Given the description of an element on the screen output the (x, y) to click on. 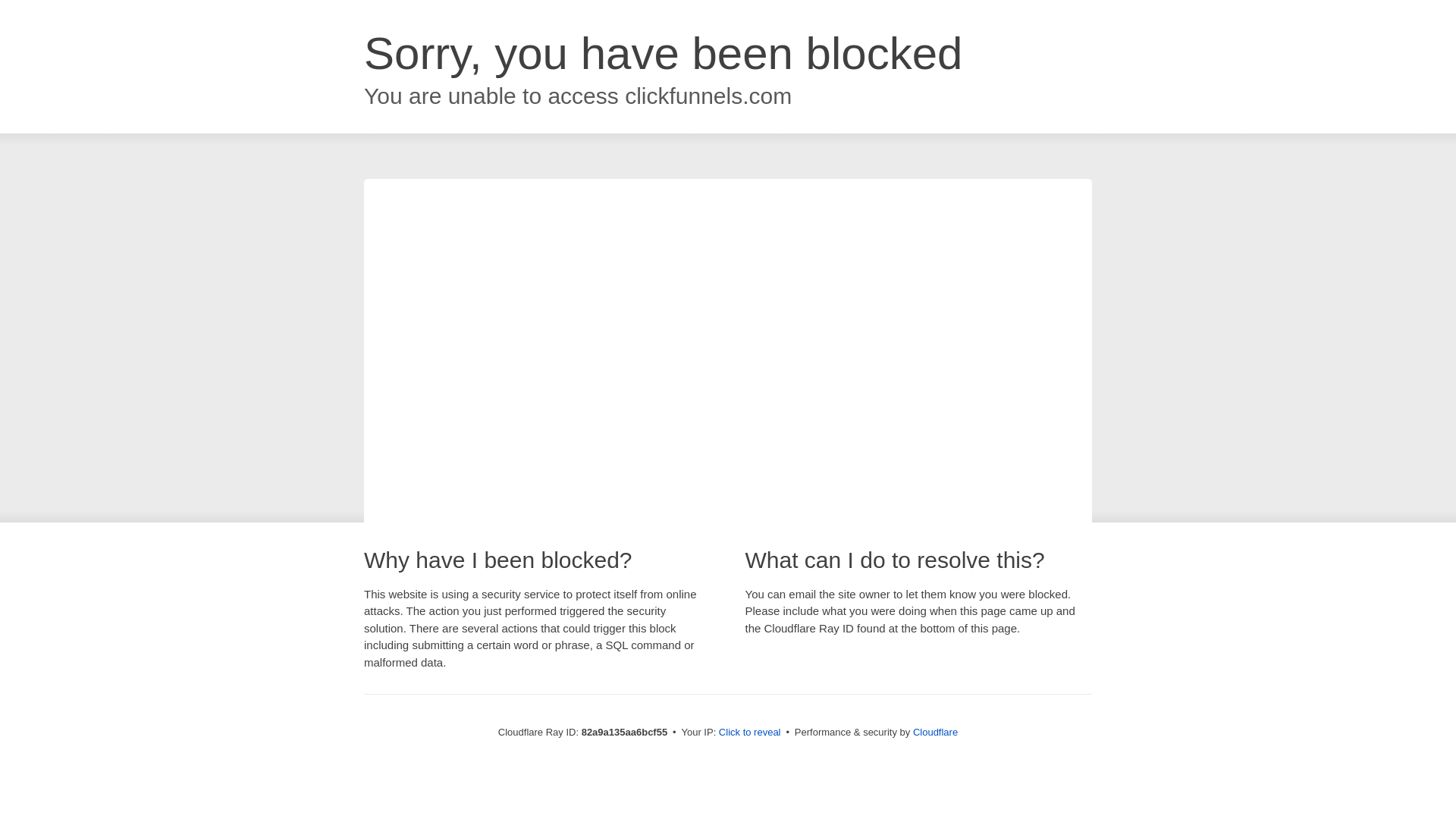
Cloudflare Element type: text (935, 731)
Click to reveal Element type: text (749, 732)
